Given the description of an element on the screen output the (x, y) to click on. 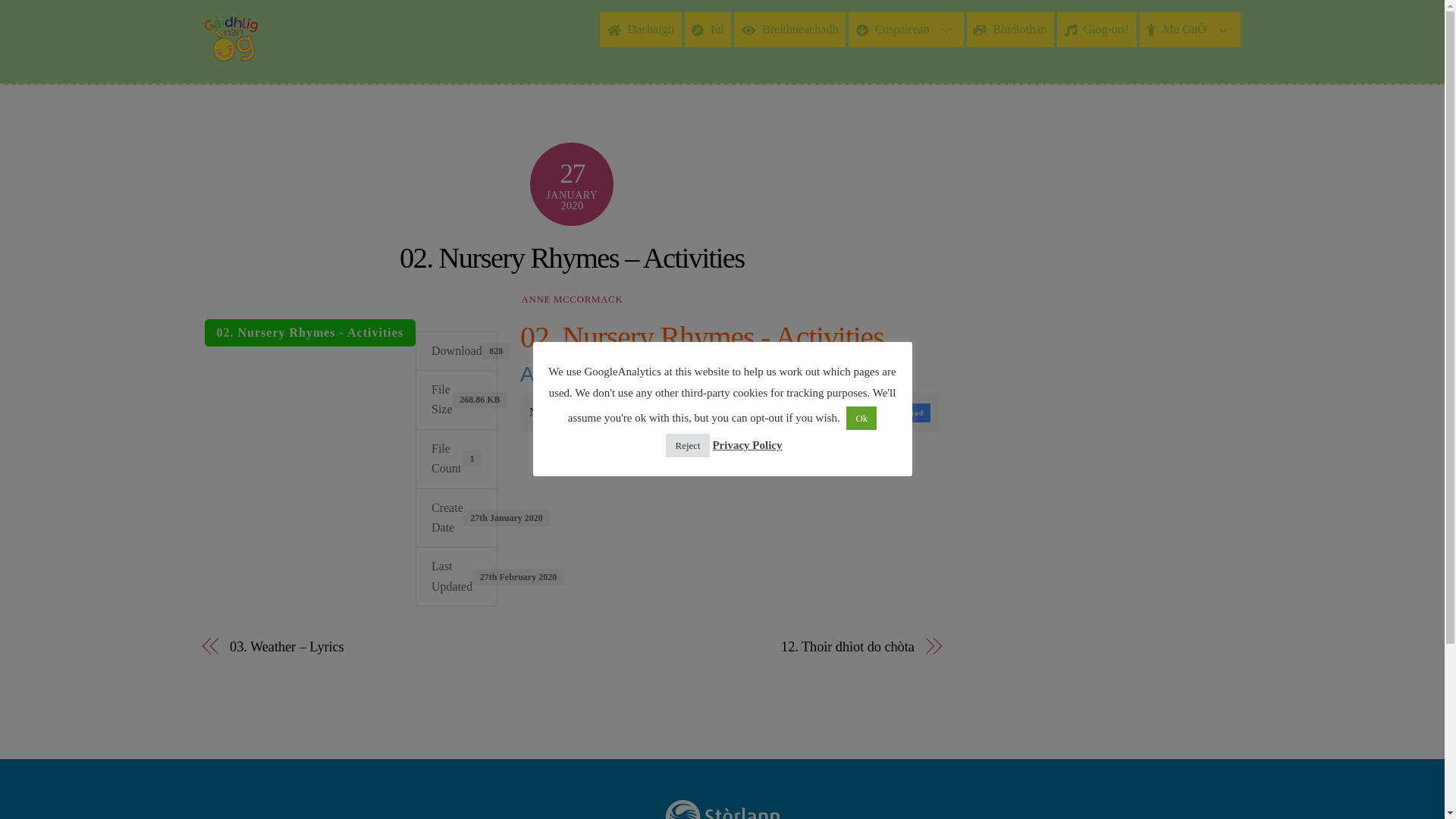
Dachaigh (640, 29)
Cuspairean (905, 29)
Download (903, 412)
ANNE MCCORMACK (572, 298)
02. Nursery Rhymes - Activities (310, 332)
Breithneachadh (789, 29)
Bhidiothan (1010, 29)
